Given the description of an element on the screen output the (x, y) to click on. 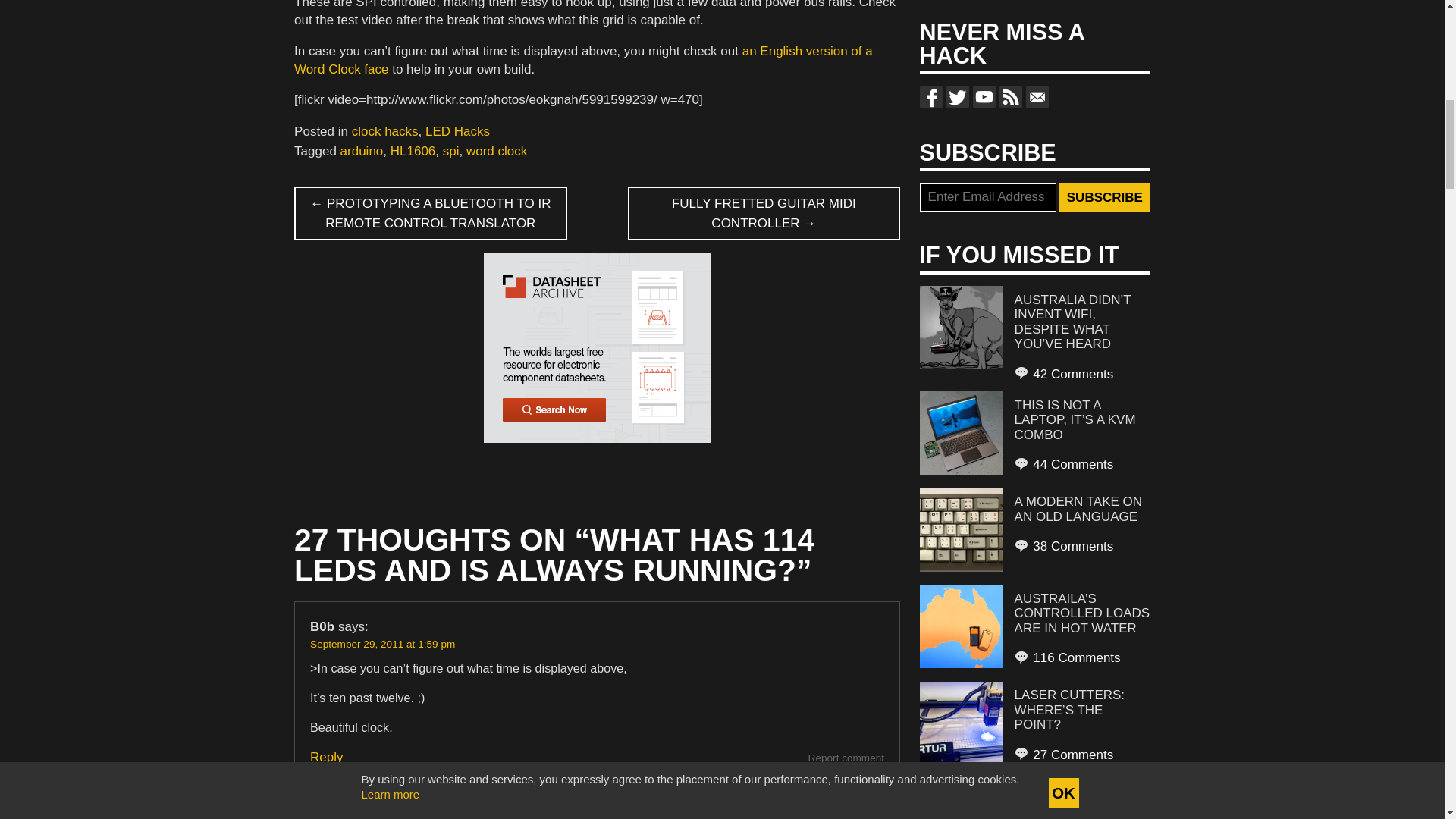
an English version of a Word Clock face (583, 60)
spi (451, 151)
HL1606 (412, 151)
clock hacks (385, 131)
LED Hacks (457, 131)
word clock (496, 151)
Report comment (845, 757)
arduino (362, 151)
Subscribe (1104, 196)
September 29, 2011 at 1:59 pm (382, 644)
